Given the description of an element on the screen output the (x, y) to click on. 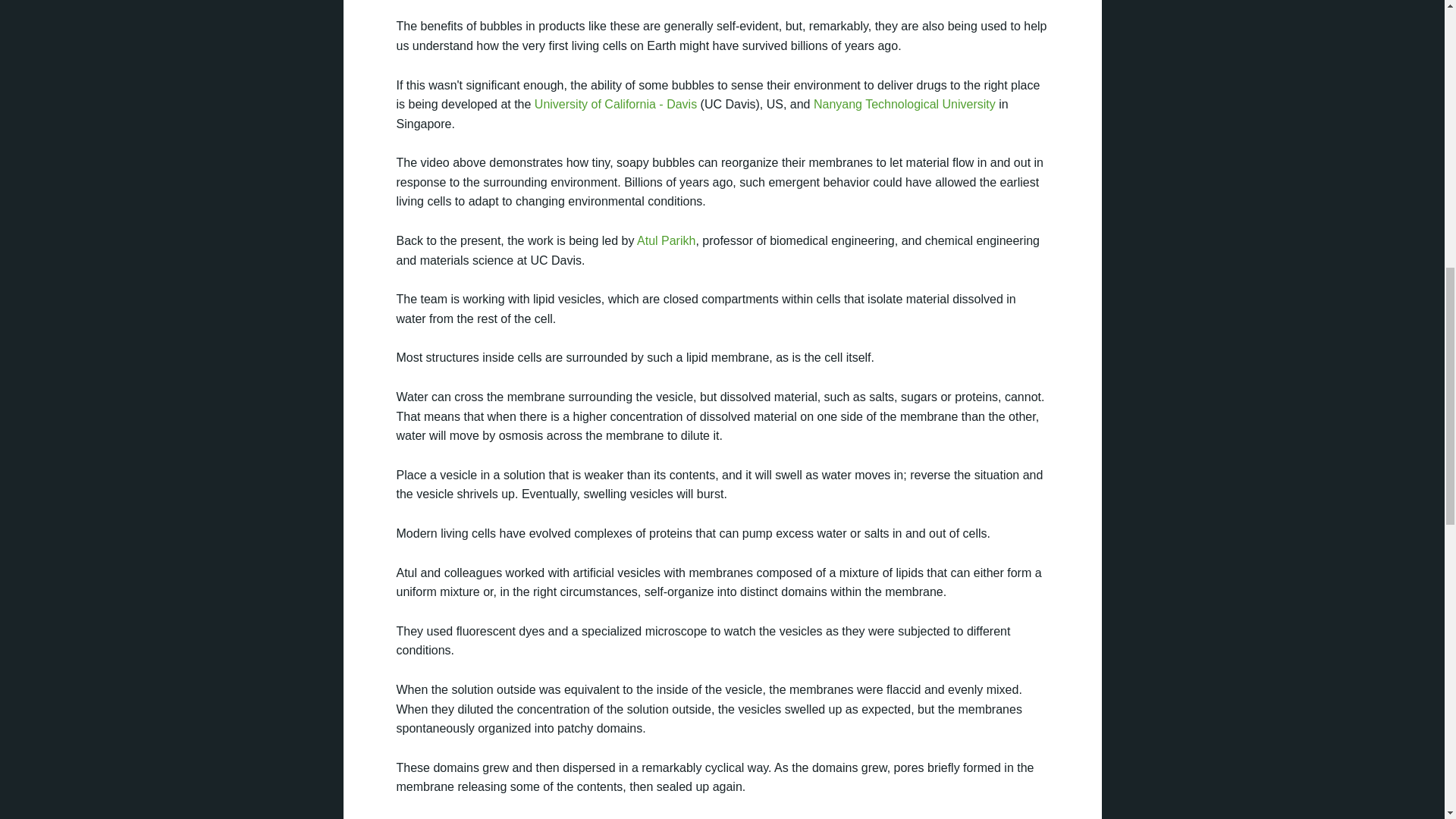
UC Davis (615, 103)
Atul Parikh (666, 240)
NTU Singapore (904, 103)
